Given the description of an element on the screen output the (x, y) to click on. 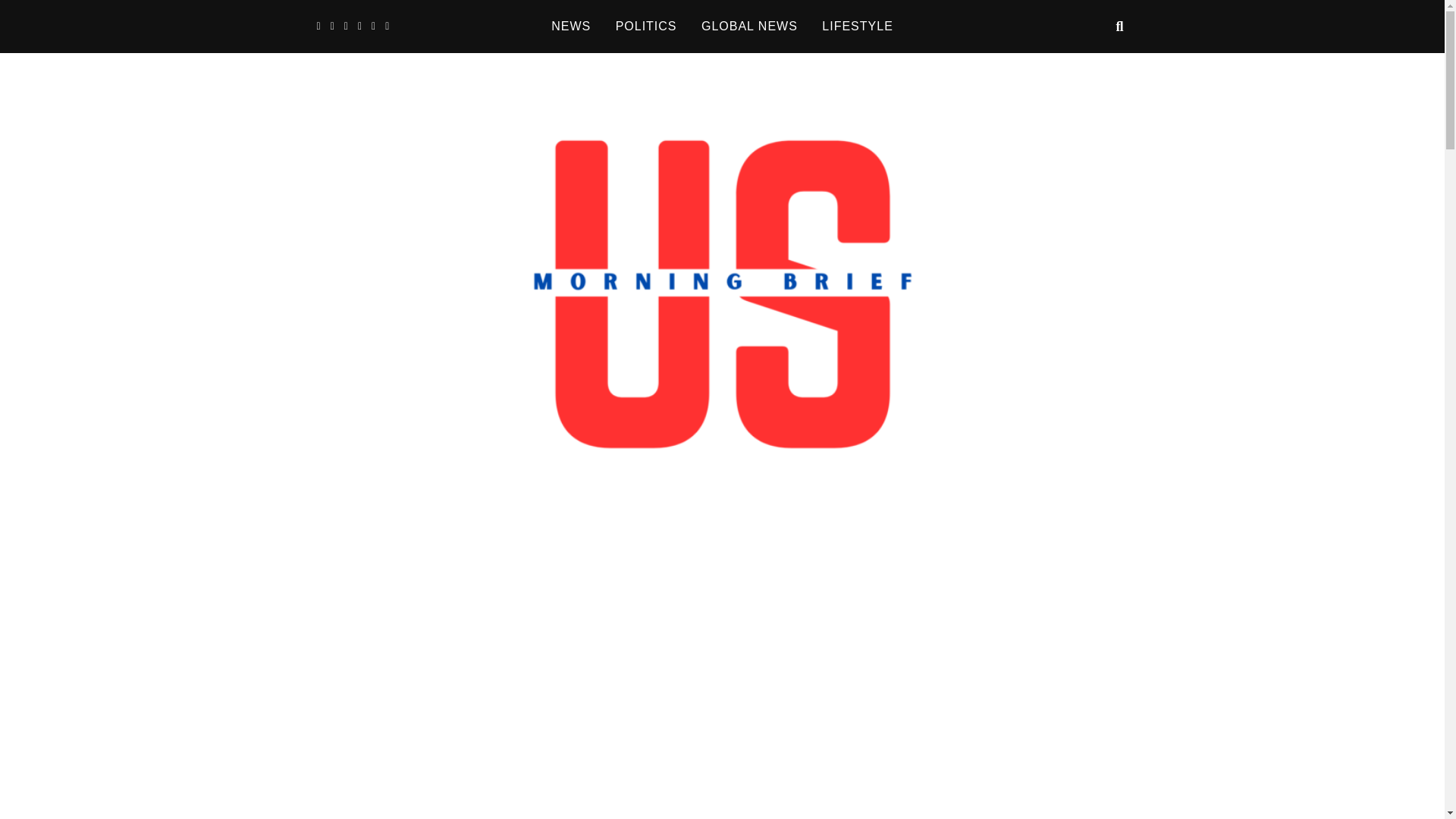
POLITICS (646, 26)
LIFESTYLE (856, 26)
NEWS (570, 26)
GLOBAL NEWS (749, 26)
Advertisement (1030, 786)
